Given the description of an element on the screen output the (x, y) to click on. 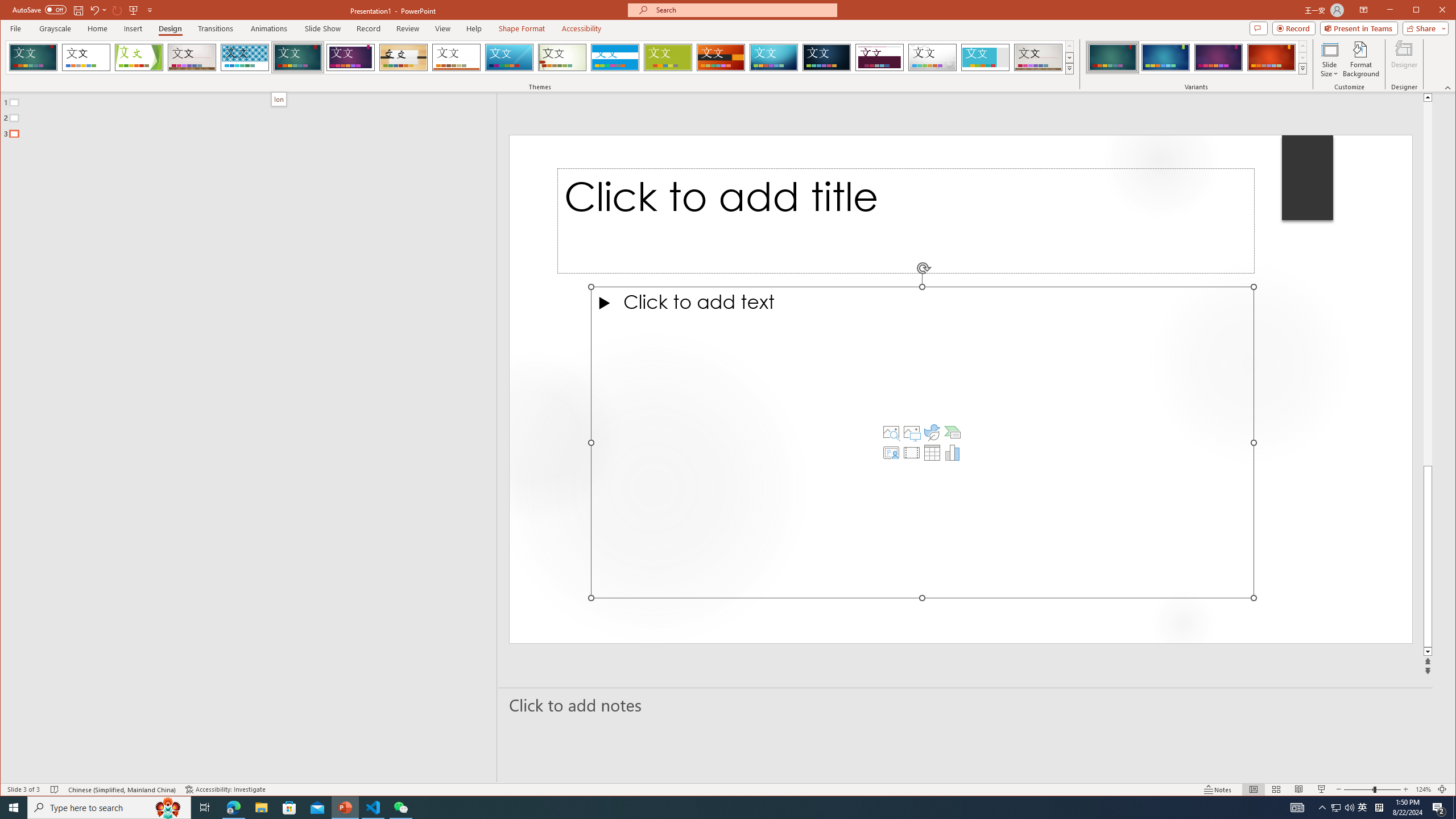
Wisp (561, 57)
Insert an Icon (931, 432)
Ion Variant 4 (1270, 57)
Frame (985, 57)
Berlin (720, 57)
Banded (615, 57)
